Given the description of an element on the screen output the (x, y) to click on. 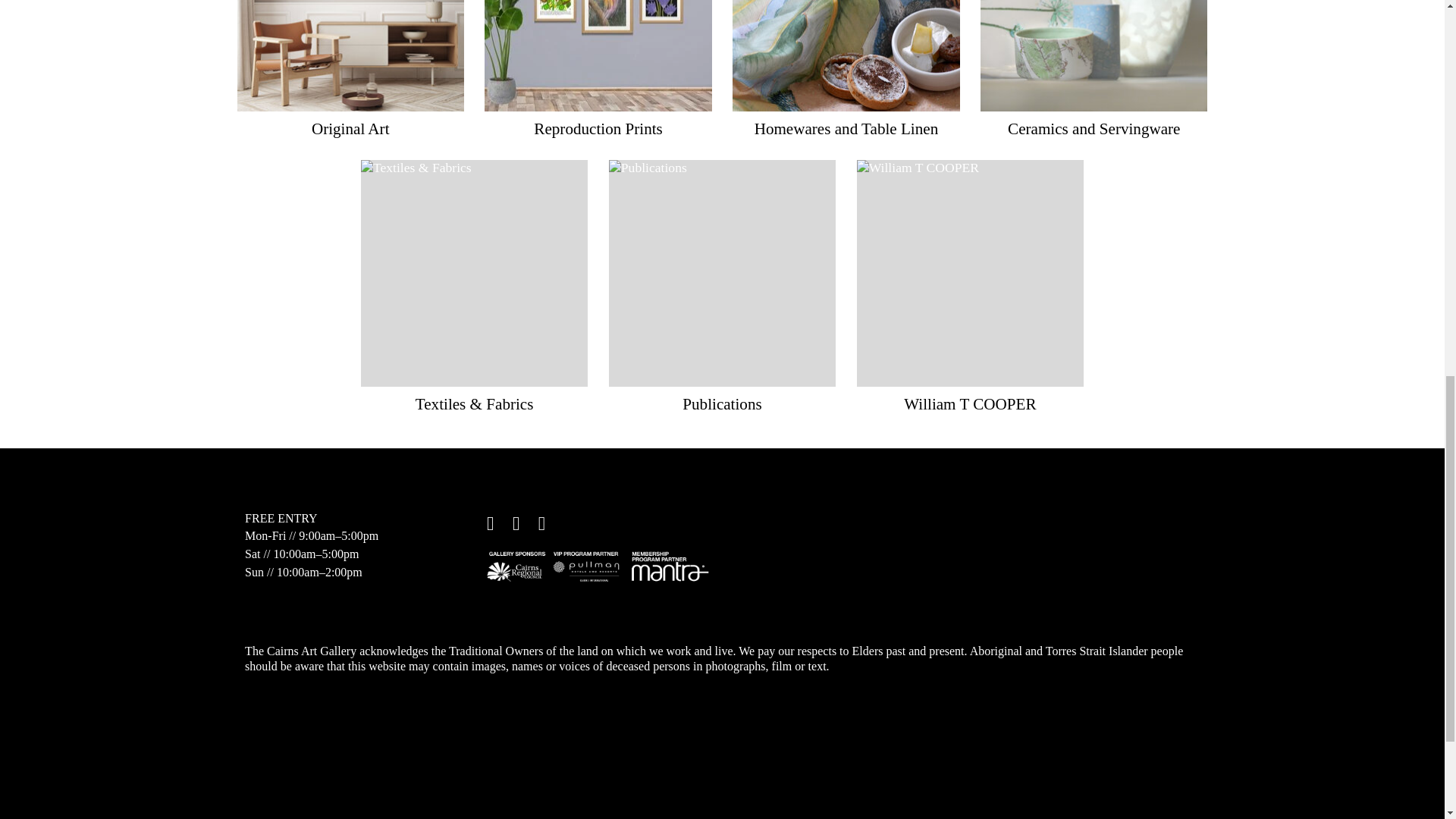
Publications (721, 272)
William T COOPER (970, 272)
Reproduction Prints (597, 55)
Publications (721, 403)
Homewares and Table Linen (845, 55)
Reproduction Prints (598, 128)
Homewares and Table Linen (846, 128)
Ceramics and Servingware (1093, 128)
Original Art (350, 55)
Ceramics and Servingware (1093, 55)
Original Art (350, 128)
William T COOPER (969, 403)
